Given the description of an element on the screen output the (x, y) to click on. 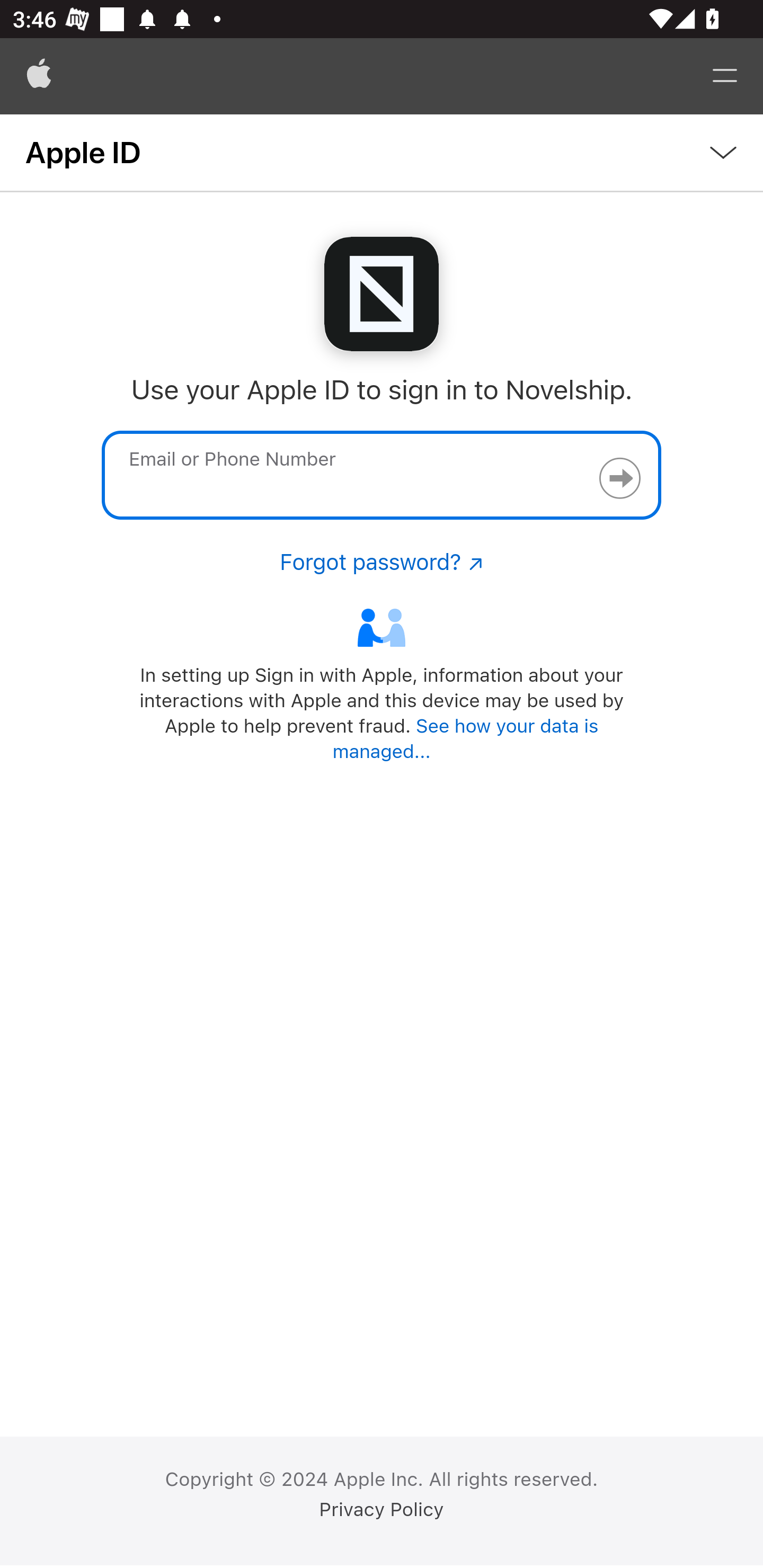
Apple (38, 75)
Menu (724, 75)
Continue (618, 477)
Privacy Policy (381, 1509)
